Given the description of an element on the screen output the (x, y) to click on. 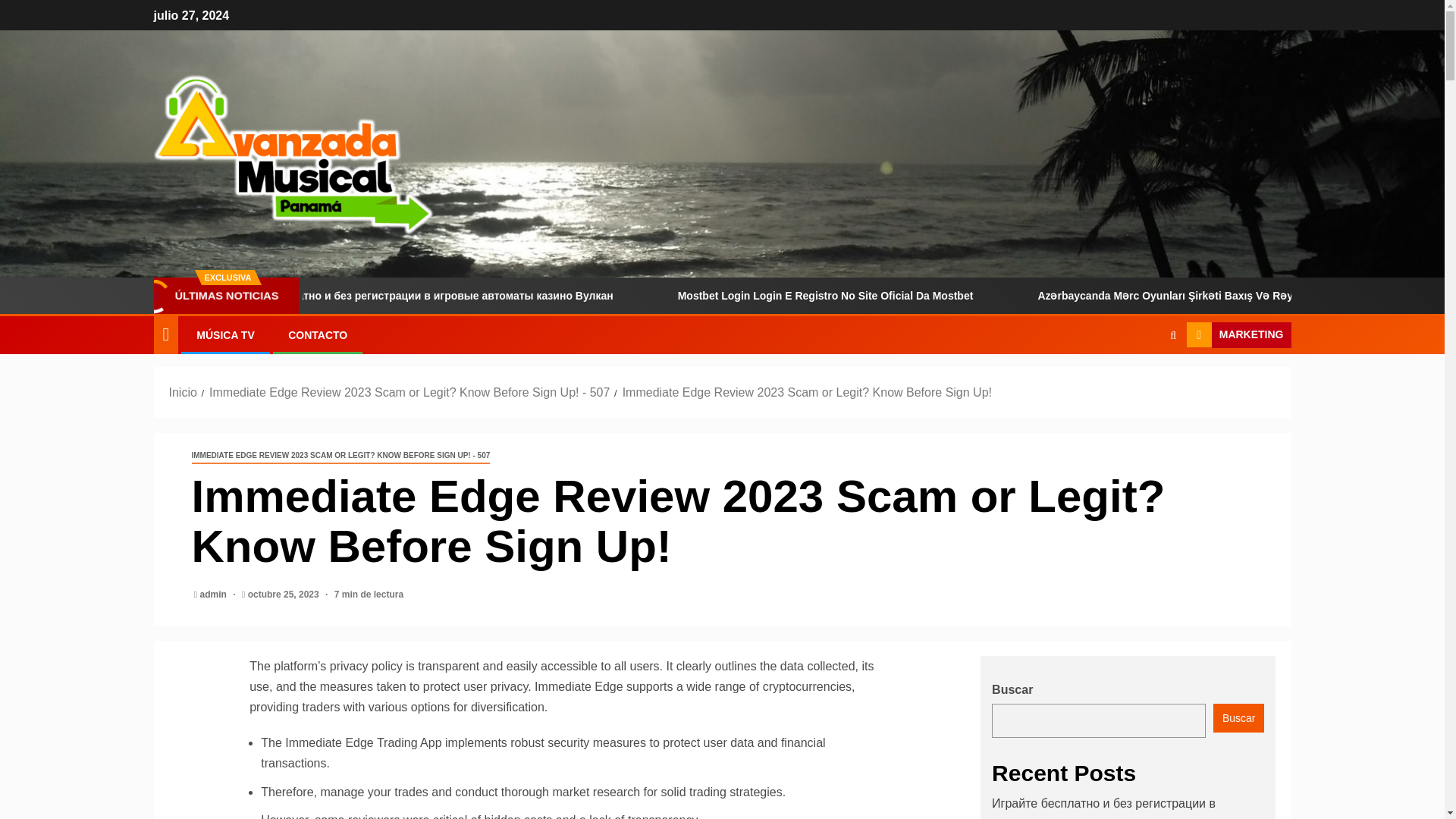
admin (215, 593)
MARKETING (1238, 335)
Inicio (182, 391)
Mostbet Login Login E Registro No Site Oficial Da Mostbet (929, 295)
Buscar (1143, 380)
CONTACTO (317, 335)
